Given the description of an element on the screen output the (x, y) to click on. 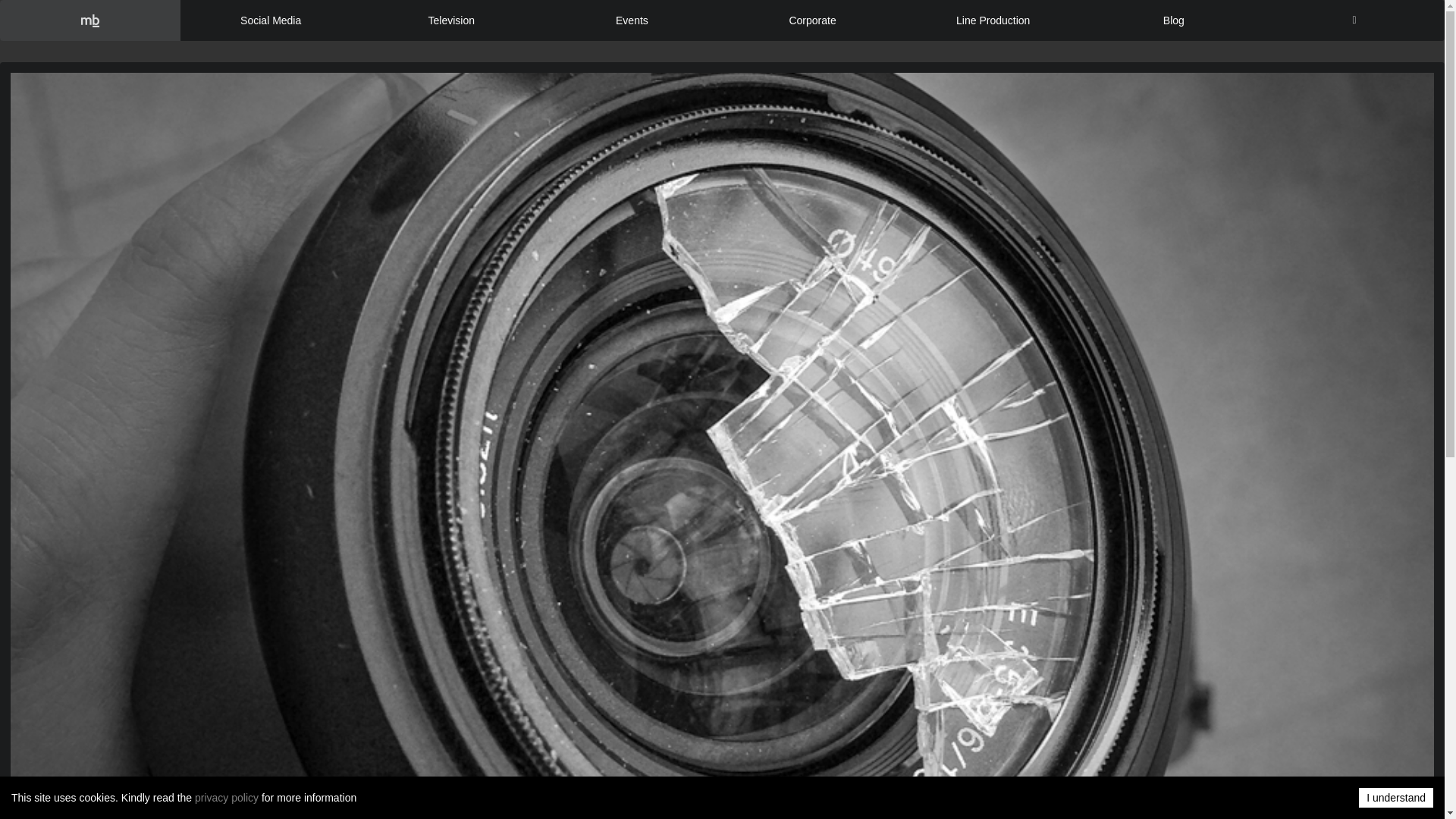
Television (451, 20)
Corporate (812, 20)
I understand (1395, 797)
privacy policy (227, 797)
Blog (1173, 20)
Social Media (270, 20)
Events (631, 20)
Line Production (992, 20)
